Given the description of an element on the screen output the (x, y) to click on. 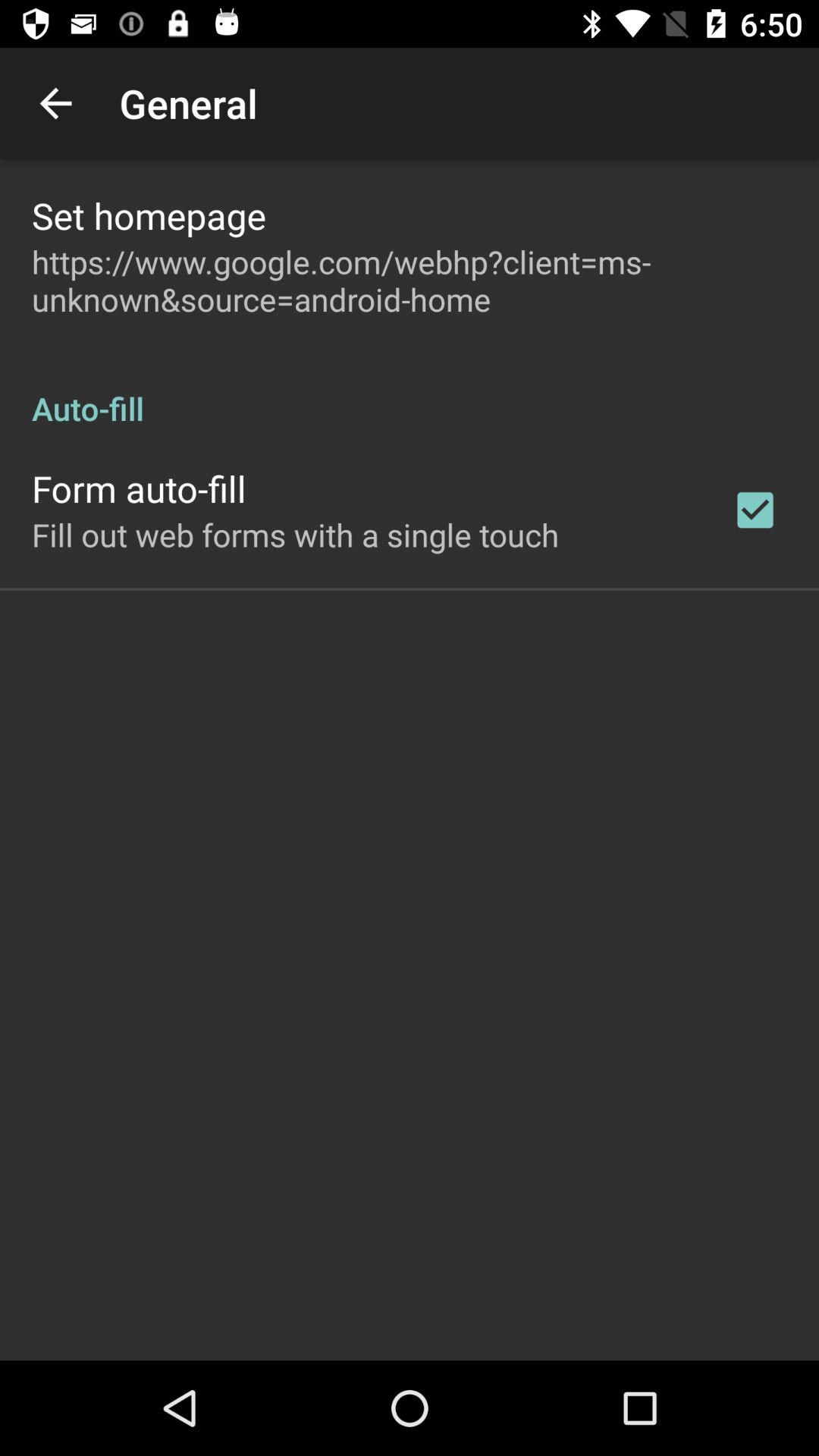
flip to https www google (409, 280)
